Given the description of an element on the screen output the (x, y) to click on. 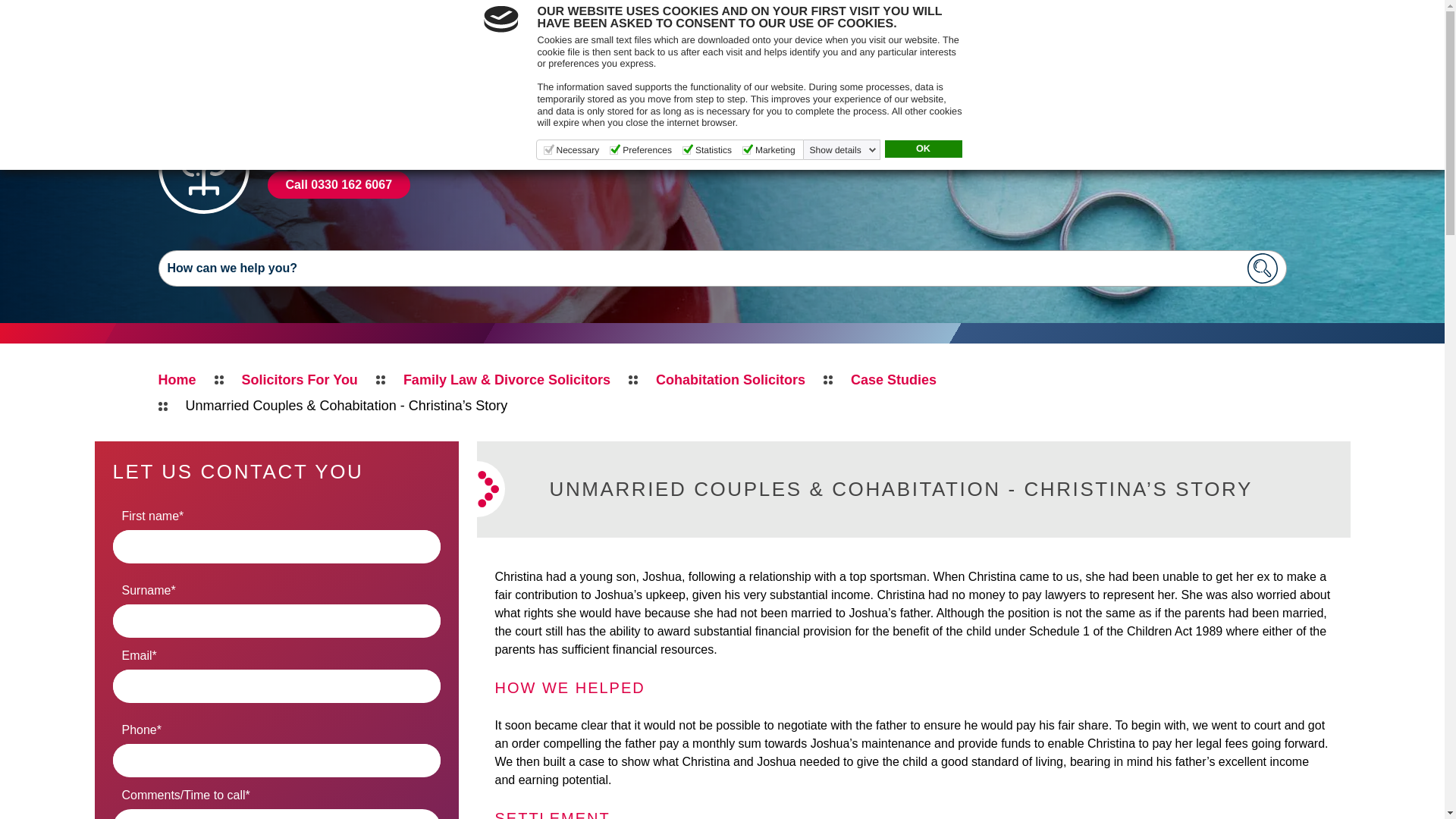
Show details (842, 150)
OK (921, 149)
